Given the description of an element on the screen output the (x, y) to click on. 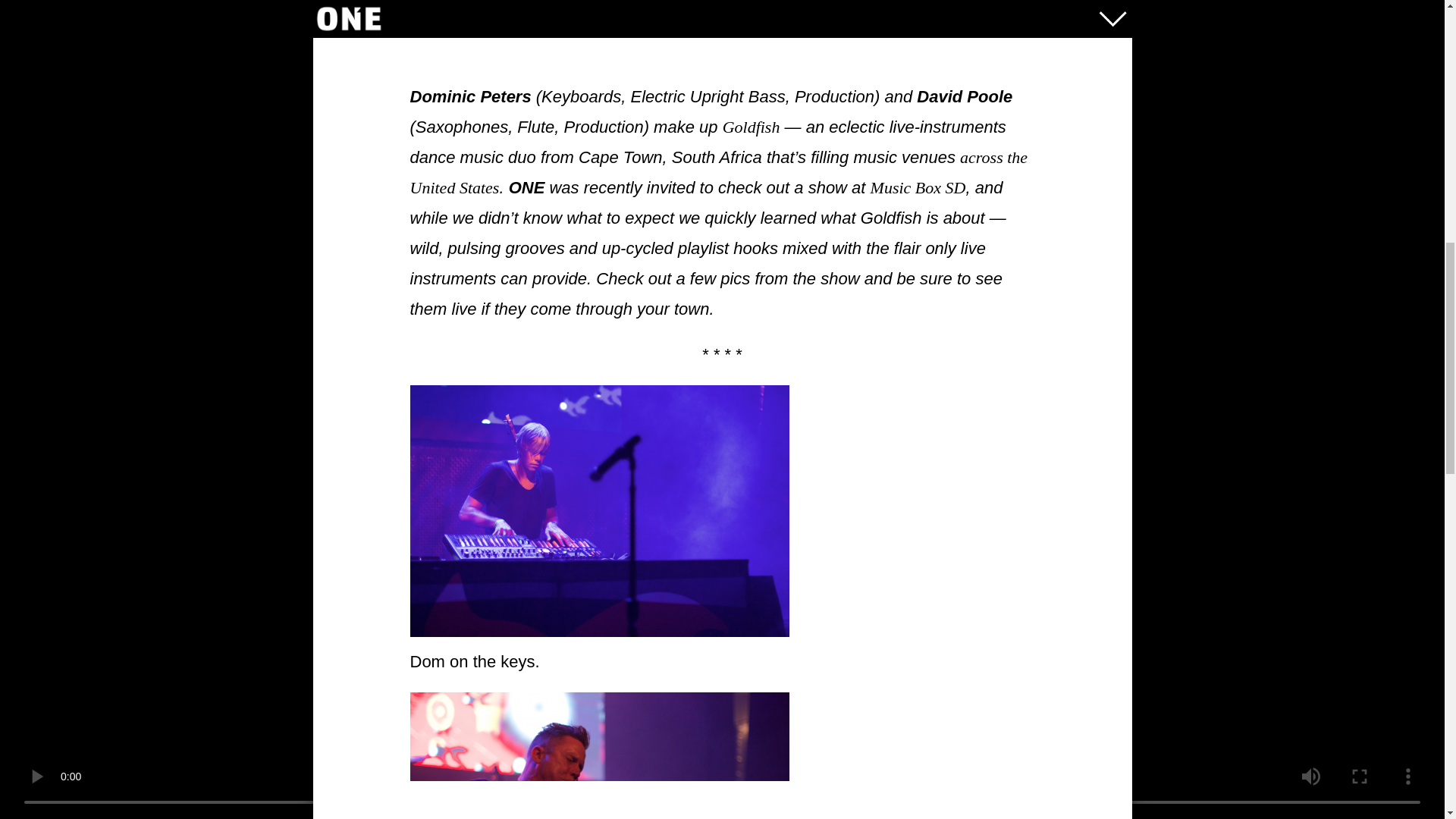
Goldfish (751, 126)
across the United States (718, 171)
Music Box SD (918, 186)
